Given the description of an element on the screen output the (x, y) to click on. 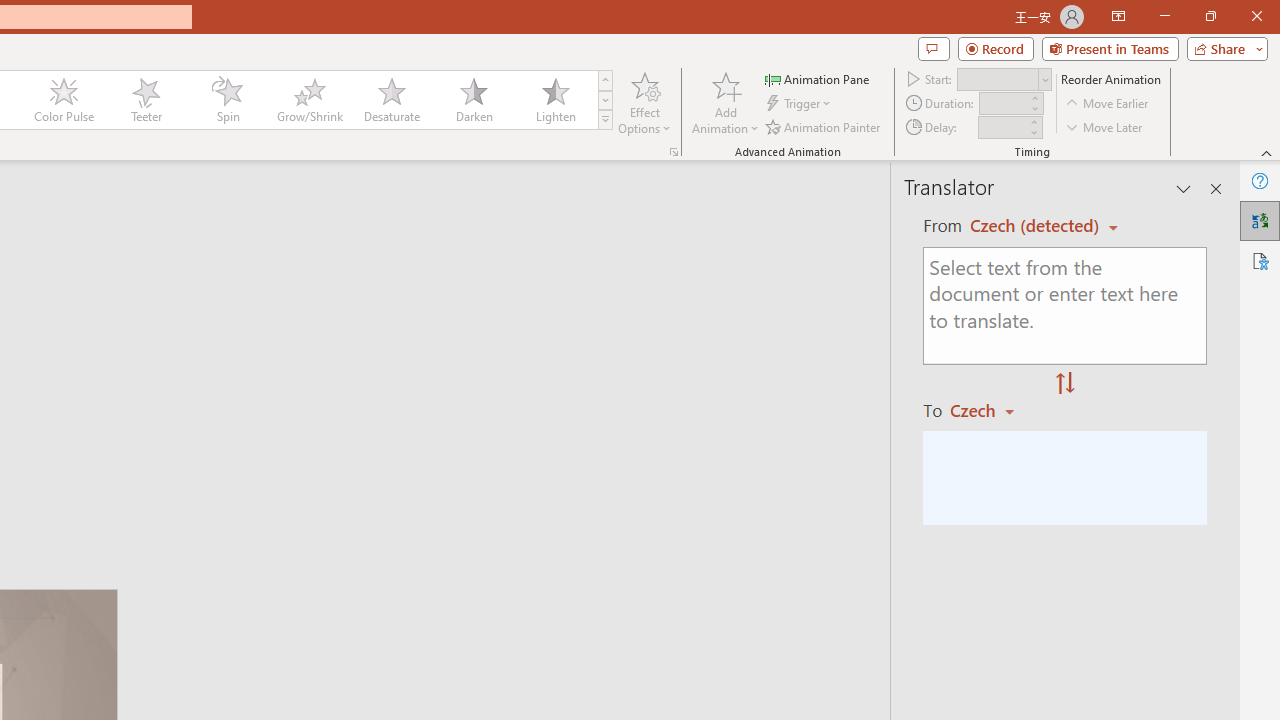
Desaturate (391, 100)
